Given the description of an element on the screen output the (x, y) to click on. 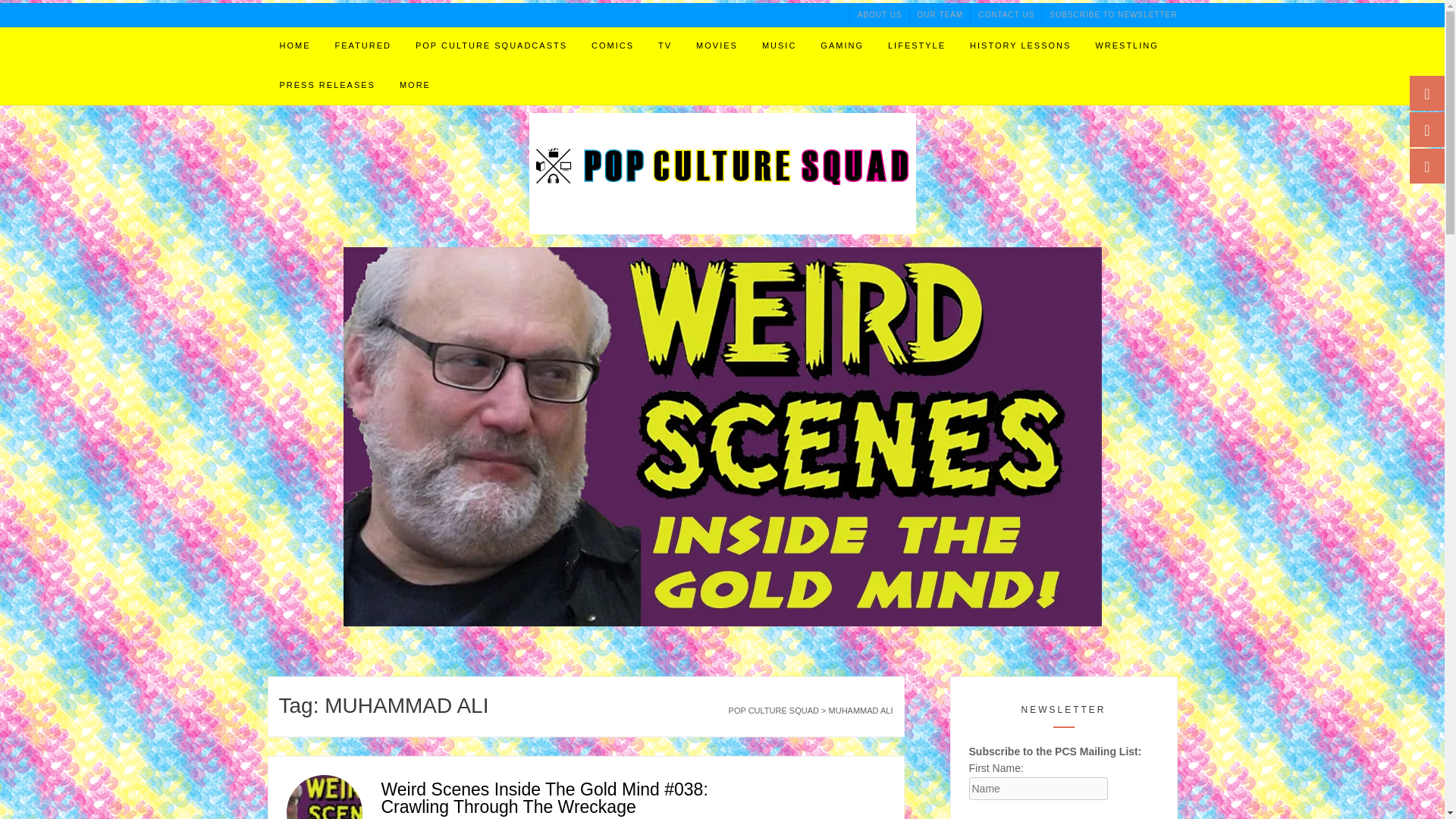
Go to Pop Culture Squad. (773, 709)
FEATURED (363, 46)
OUR TEAM (940, 14)
COMICS (612, 46)
ABOUT US (880, 14)
POP CULTURE SQUADCASTS (491, 46)
HOME (293, 46)
CONTACT US (1006, 14)
TV (665, 46)
SUBSCRIBE TO NEWSLETTER (1109, 14)
